Given the description of an element on the screen output the (x, y) to click on. 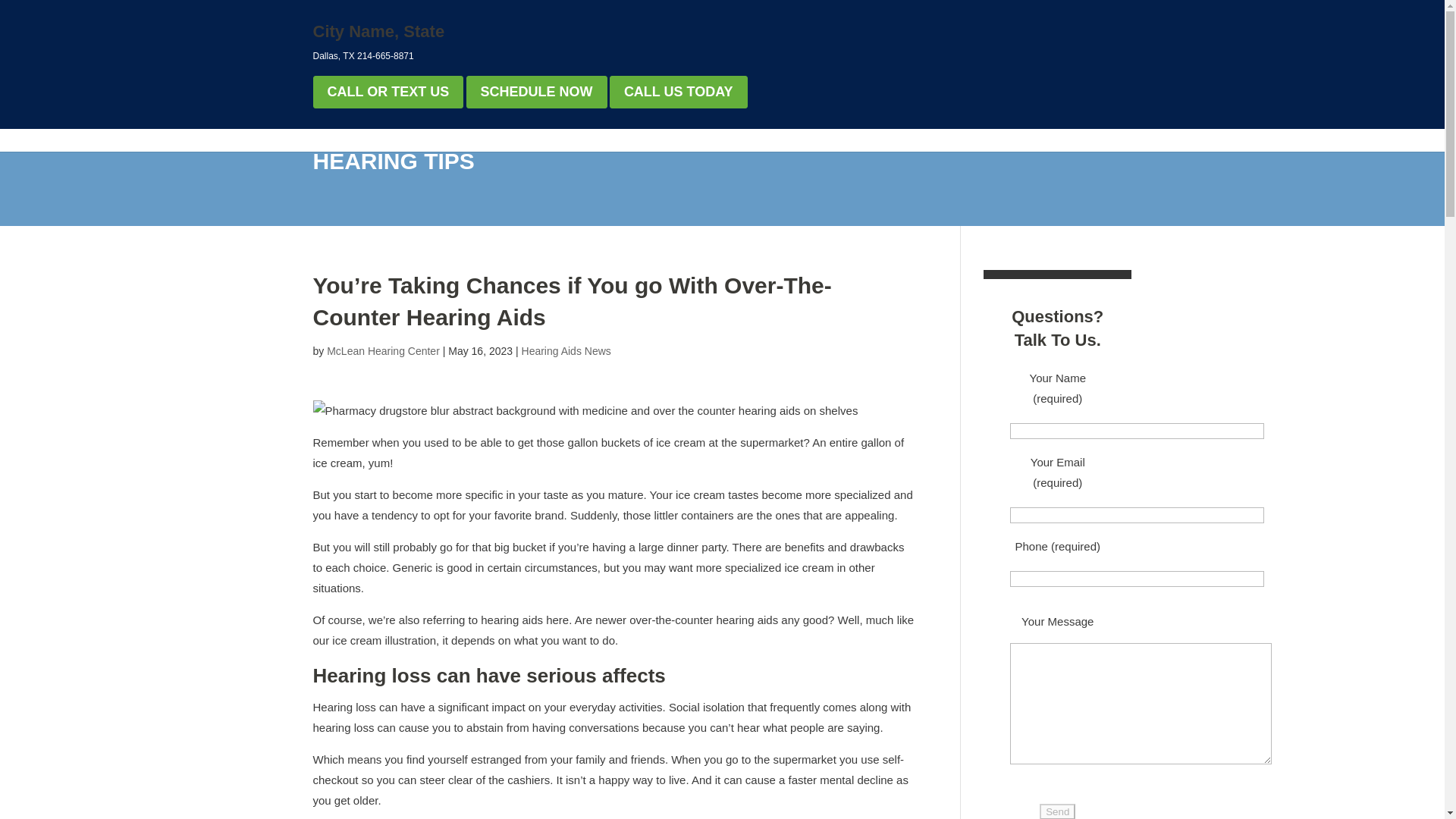
Services (866, 125)
CALL US TODAY (679, 92)
About Us (946, 125)
Send (1057, 811)
Contact Us (1096, 125)
214-665-8871 (384, 55)
McLean Hearing Center (379, 51)
Dallas, TX (333, 55)
CALL OR TEXT US (388, 92)
McLean Hearing Center (509, 51)
Hearing Aids (776, 125)
McLean Hearing Center (382, 350)
Hearing Loss (675, 125)
McLean Hearing Center (509, 51)
Posts by McLean Hearing Center (382, 350)
